Given the description of an element on the screen output the (x, y) to click on. 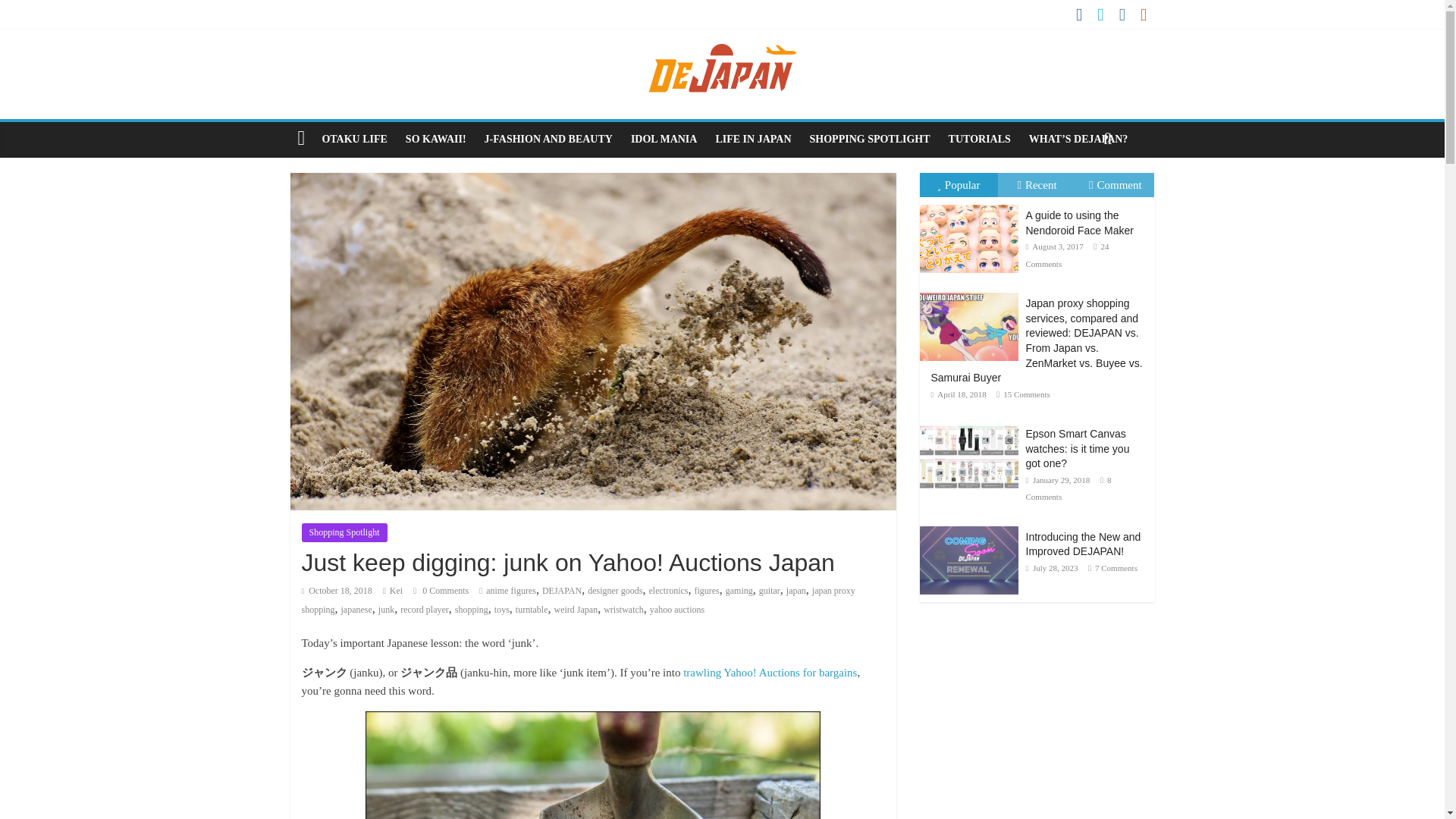
japanese (356, 609)
LIFE IN JAPAN (752, 139)
IDOL MANIA (663, 139)
electronics (667, 590)
junk (386, 609)
figures (706, 590)
00:00 (336, 590)
record player (424, 609)
Kei (396, 590)
toys (502, 609)
October 18, 2018 (336, 590)
yahoo auctions (676, 609)
DEJAPAN (560, 590)
anime figures (510, 590)
Kei (396, 590)
